Given the description of an element on the screen output the (x, y) to click on. 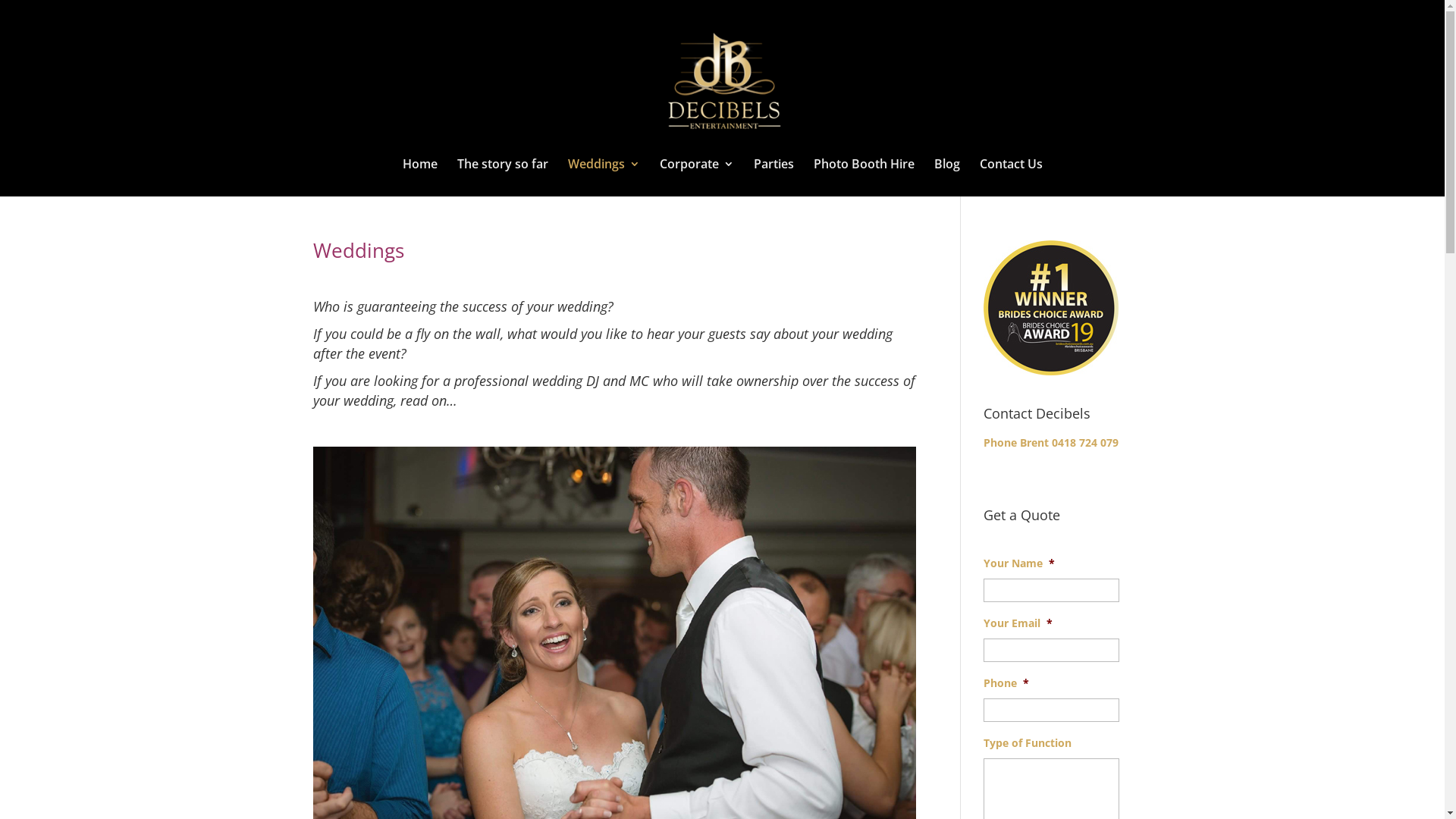
Photo Booth Hire Element type: text (862, 177)
Home Element type: text (418, 177)
Weddings Element type: text (603, 177)
Parties Element type: text (773, 177)
Contact Us Element type: text (1010, 177)
Blog Element type: text (947, 177)
Corporate Element type: text (696, 177)
The story so far Element type: text (501, 177)
